Given the description of an element on the screen output the (x, y) to click on. 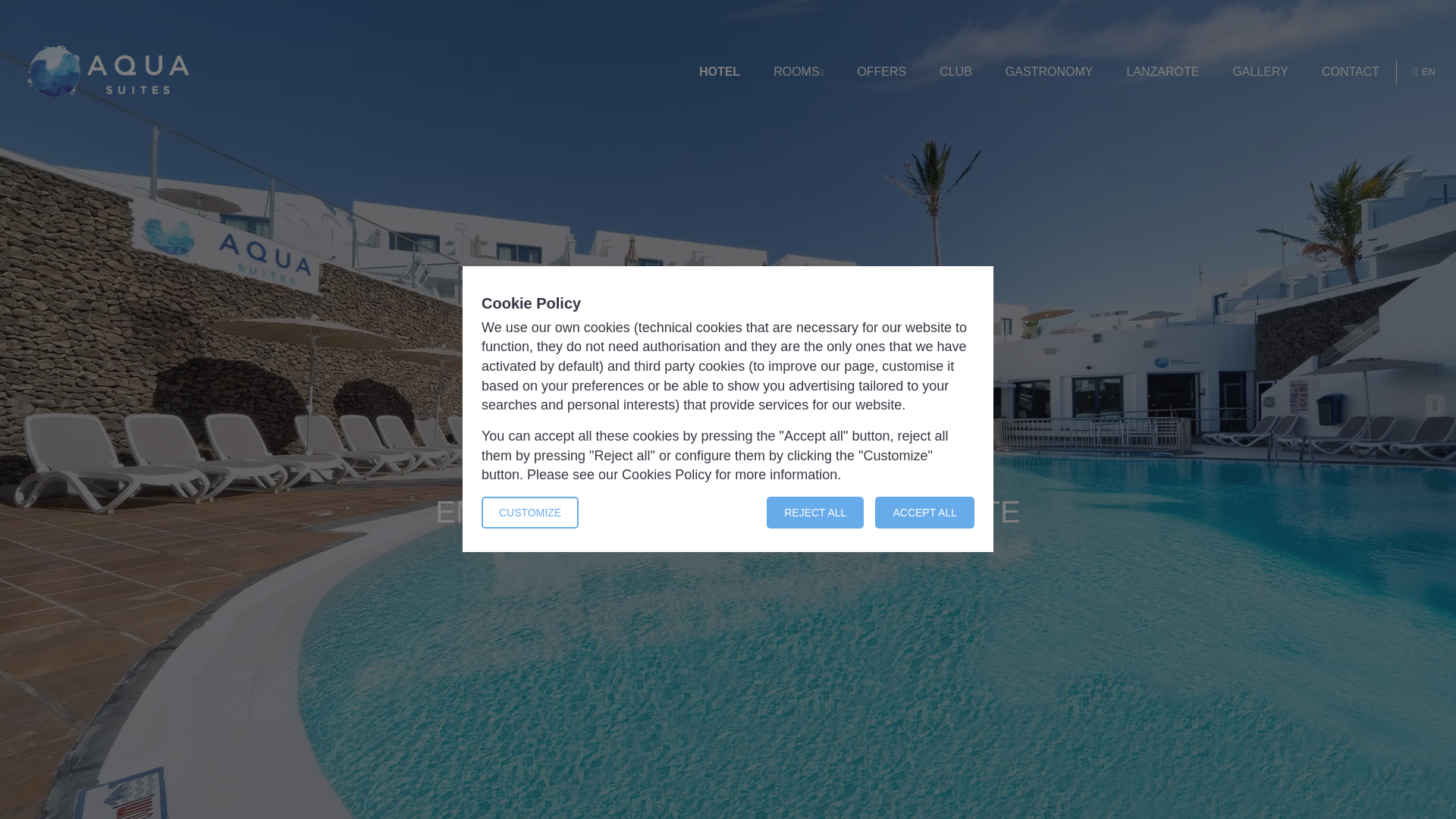
Aqua Suites Lanzarote (108, 71)
HOTEL (719, 72)
OFFERS (881, 72)
CONTACT (1350, 72)
EN (1424, 71)
ROOMS (797, 72)
CLUB (956, 72)
GASTRONOMY (1049, 72)
LANZAROTE (1162, 72)
GALLERY (1260, 72)
